Given the description of an element on the screen output the (x, y) to click on. 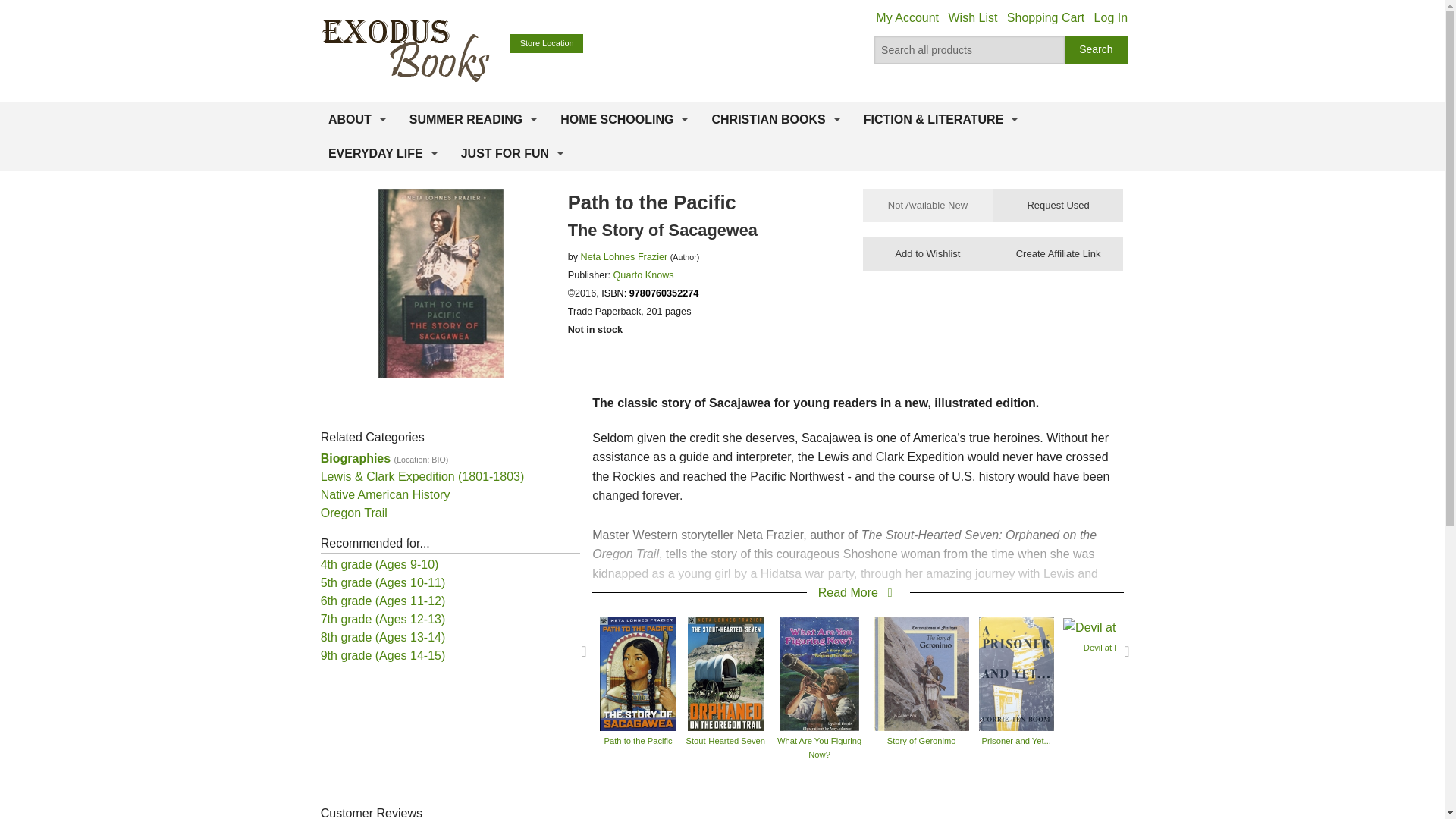
JUST FOR FUN (512, 153)
Add to Wishlist (927, 254)
Prisoner and Yet... (1016, 672)
Add to Wishlist (927, 254)
Store Location (547, 43)
Request Used (1057, 205)
ABOUT (357, 119)
Create Affiliate Link (1057, 254)
Stout-Hearted Seven (724, 672)
Search (1096, 49)
